Given the description of an element on the screen output the (x, y) to click on. 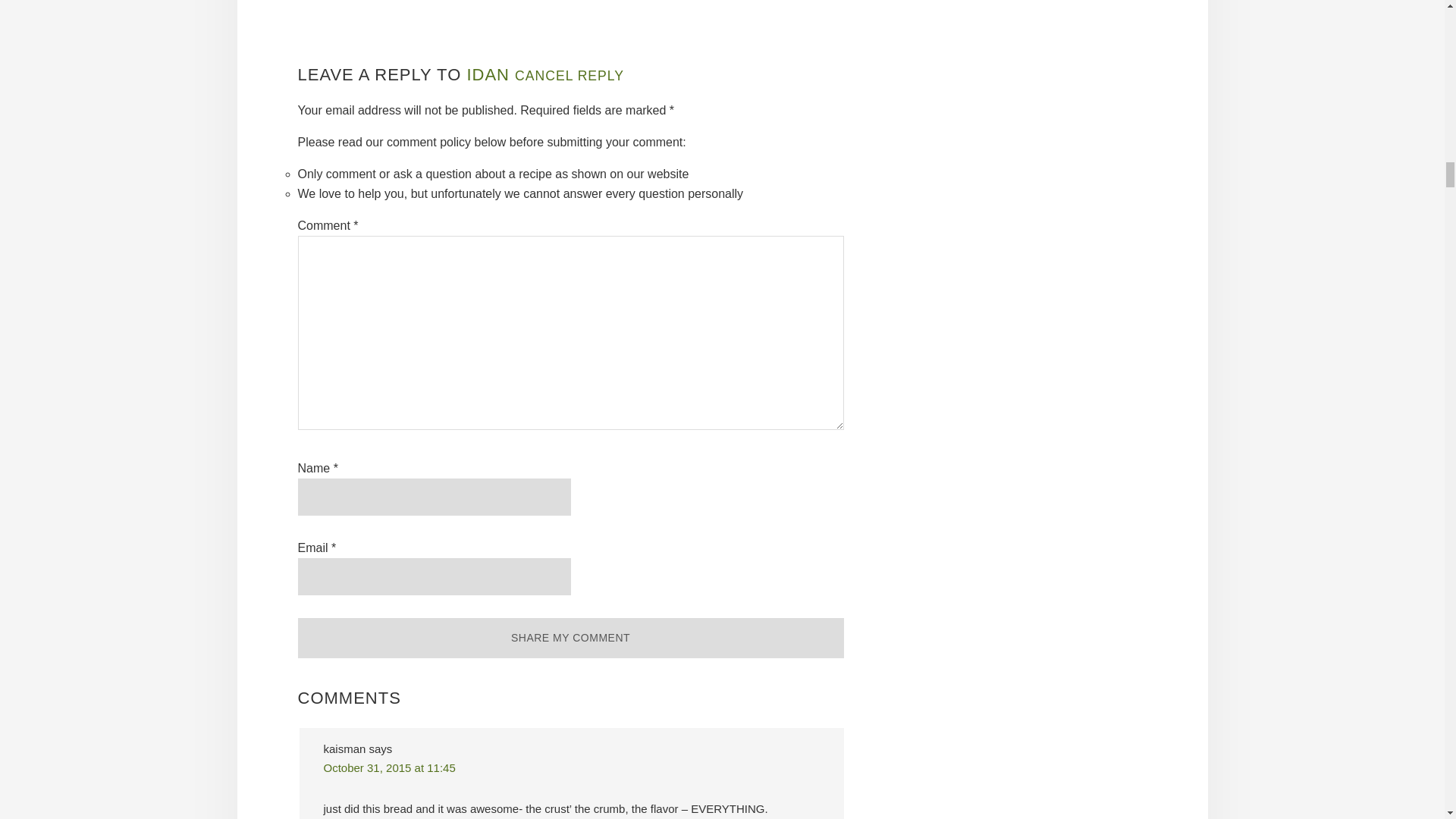
Share My Comment (570, 638)
